Given the description of an element on the screen output the (x, y) to click on. 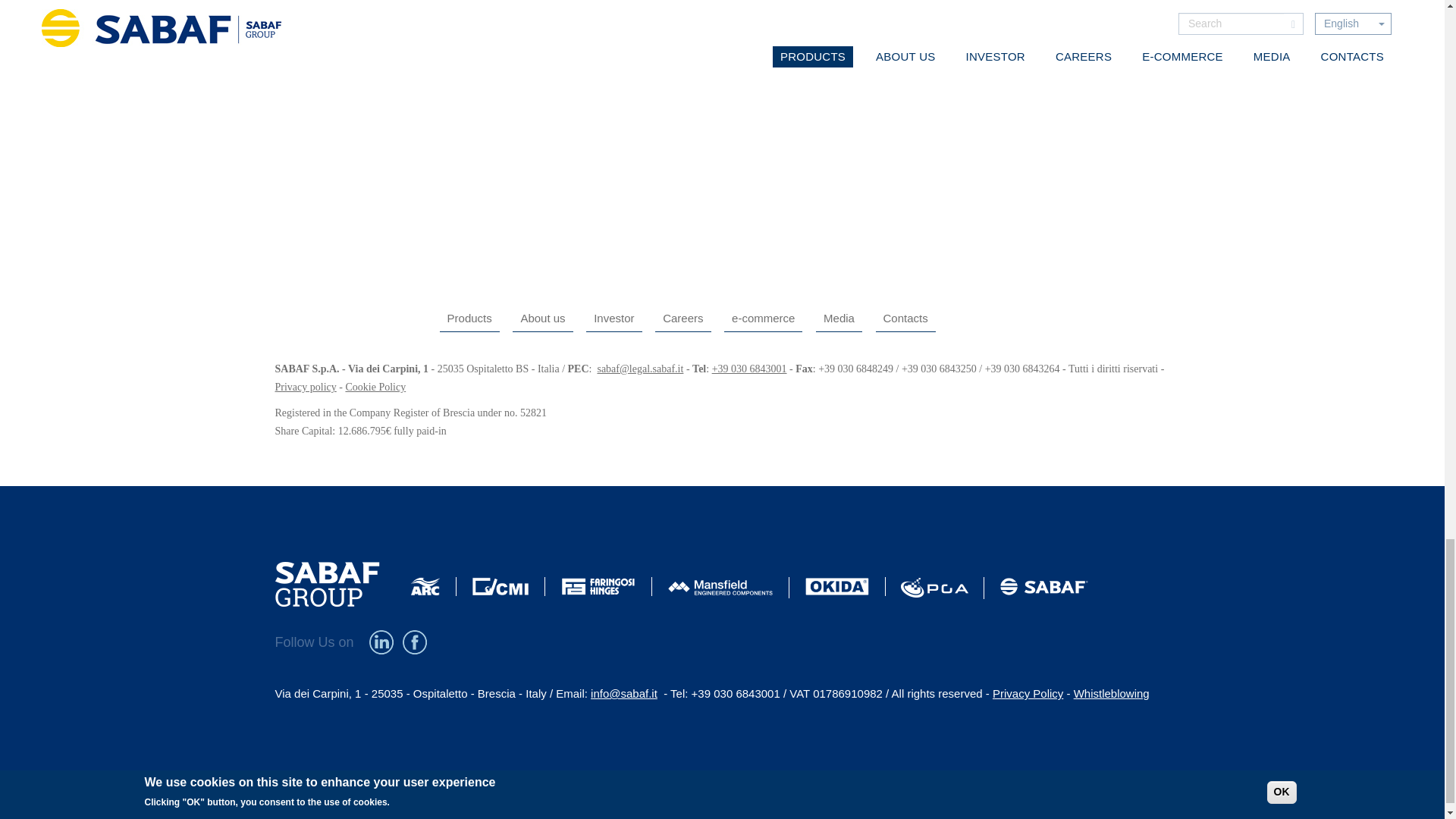
About us (542, 317)
Investor (614, 317)
e-commerce (762, 317)
Careers (682, 317)
view (293, 67)
Cookie IT (375, 387)
Cookie Policy (375, 387)
Contacts (904, 317)
Privacy Policy (305, 387)
Media (838, 317)
Privacy policy (305, 387)
Products (469, 317)
